Given the description of an element on the screen output the (x, y) to click on. 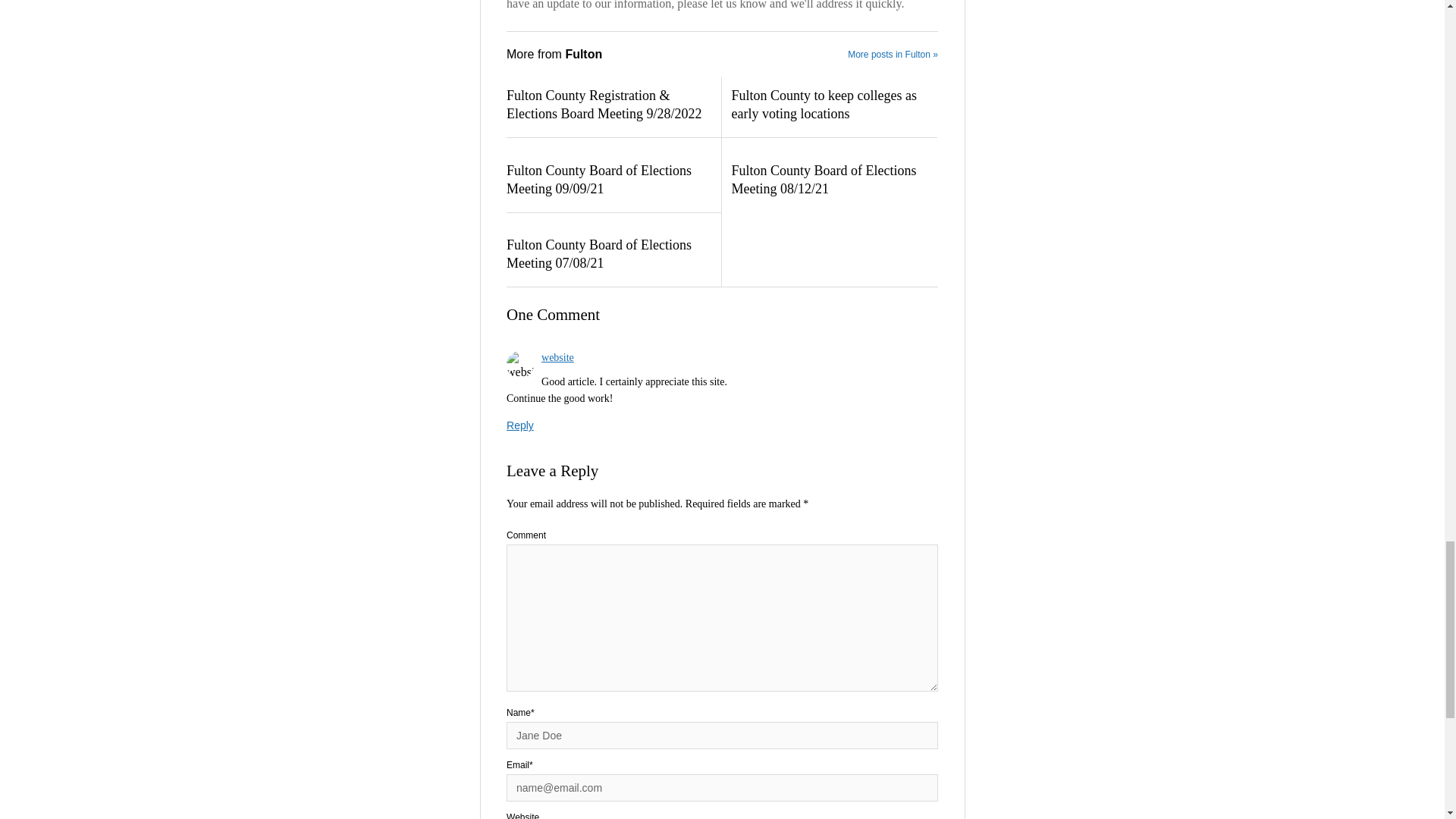
Fulton County to keep colleges as early voting locations  (833, 104)
